Given the description of an element on the screen output the (x, y) to click on. 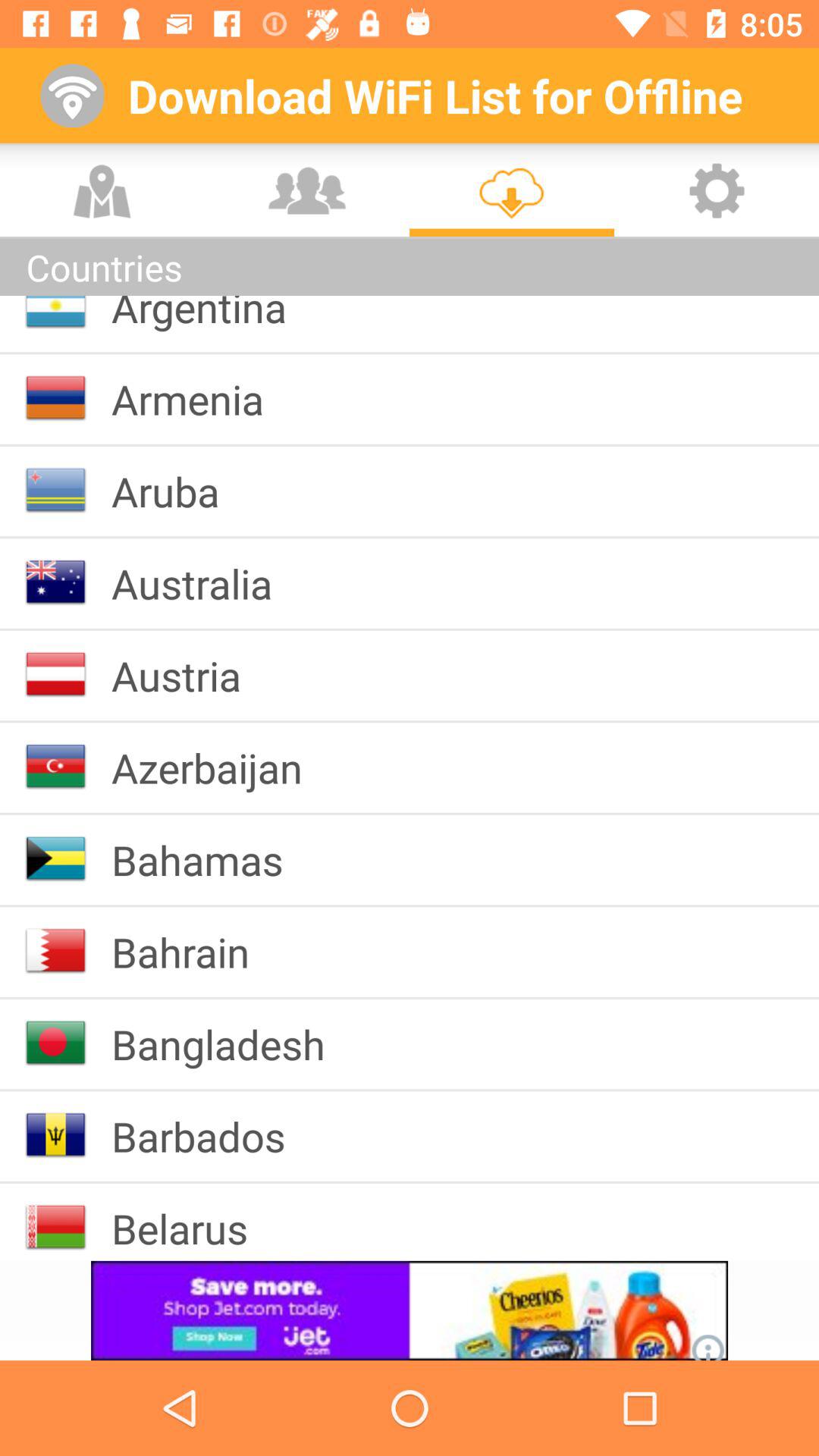
select the advertisement (409, 1310)
